Given the description of an element on the screen output the (x, y) to click on. 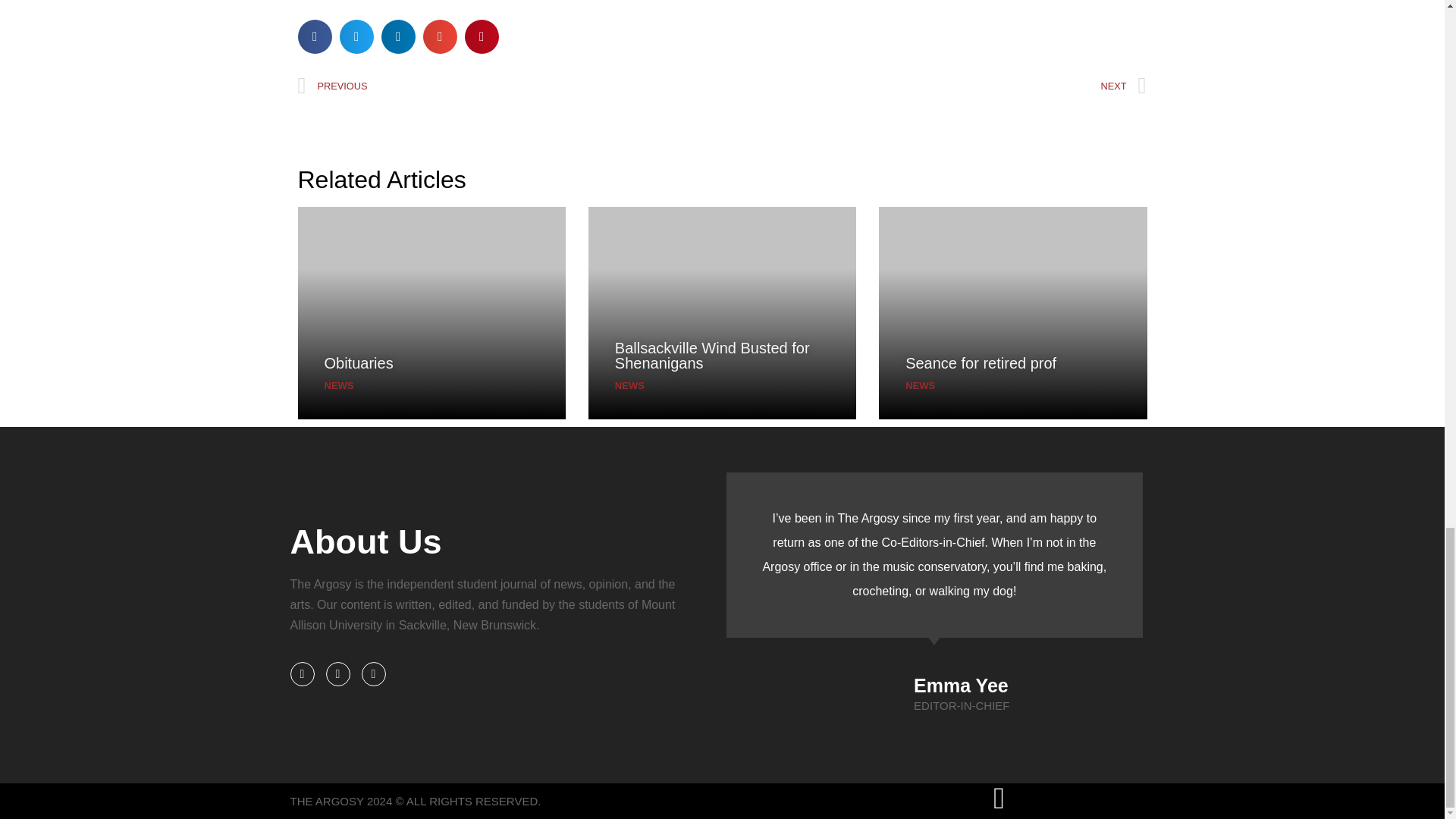
Ballsackville Wind Busted for Shenanigans (711, 355)
PREVIOUS (509, 85)
Obituaries (358, 362)
NEXT (934, 85)
Seance for retired prof (981, 362)
